Given the description of an element on the screen output the (x, y) to click on. 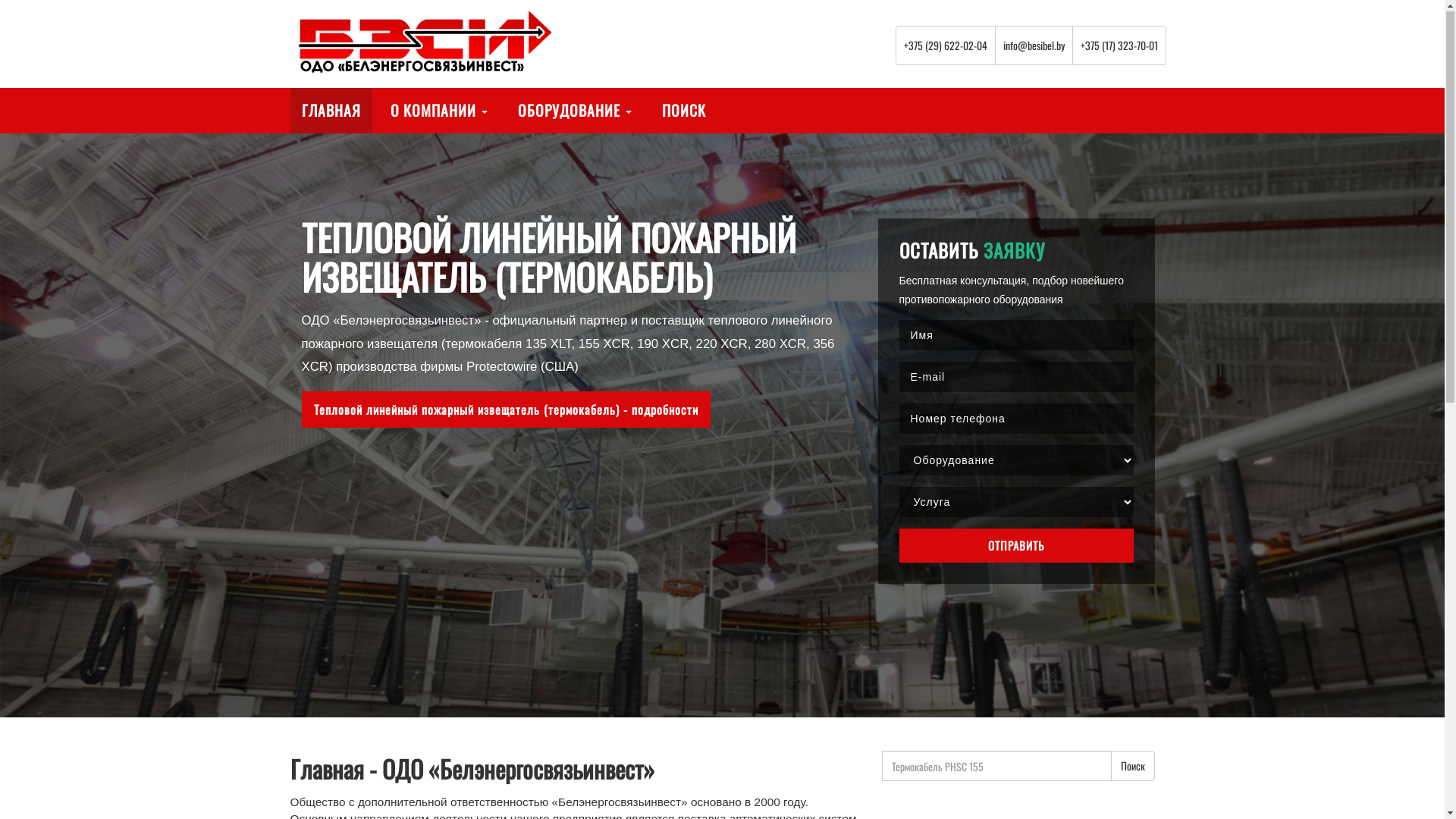
info@besibel.by Element type: text (1033, 45)
+375 (17) 323-70-01 Element type: text (1119, 45)
+375 (29) 622-02-04 Element type: text (944, 45)
